Given the description of an element on the screen output the (x, y) to click on. 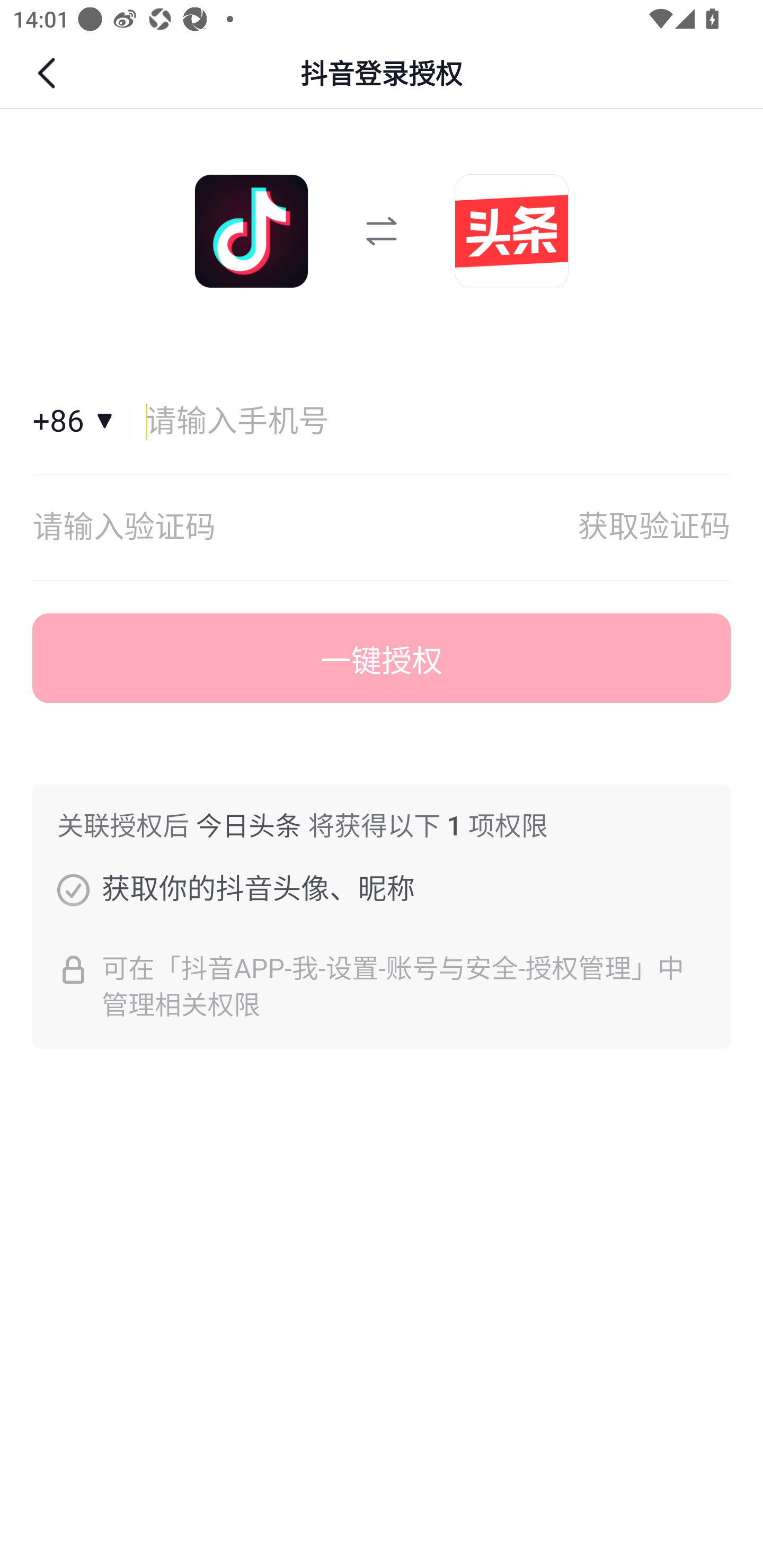
返回 (49, 72)
国家和地区+86 (81, 421)
获取验证码 (653, 527)
一键授权 (381, 658)
获取你的抖音头像、昵称 (72, 889)
